Given the description of an element on the screen output the (x, y) to click on. 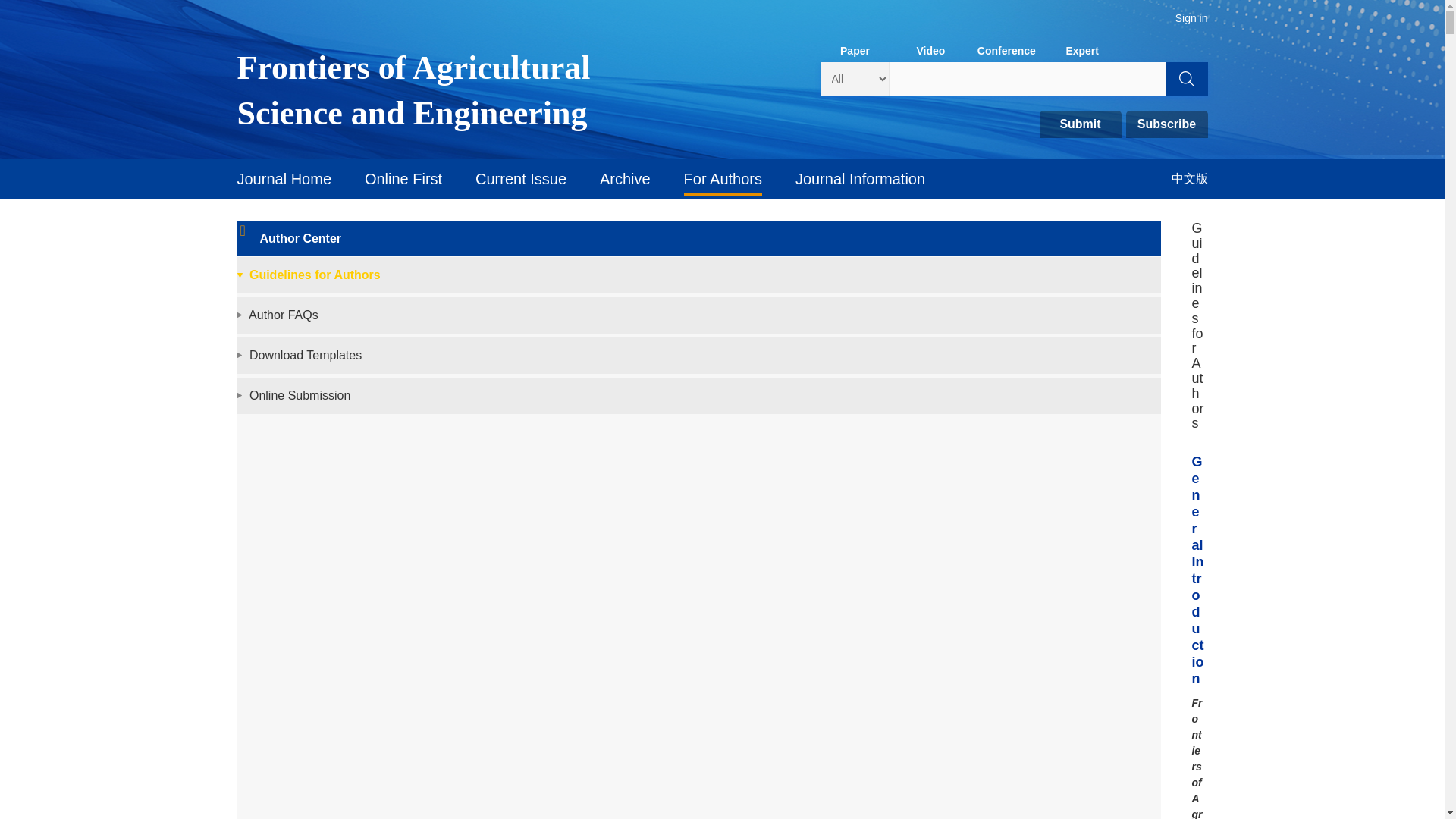
Archive (624, 178)
Download Templates (304, 354)
Author FAQs (283, 314)
Journal Information (859, 178)
Online First (403, 178)
Journal Home (283, 178)
Current Issue (521, 178)
Guidelines for Authors (314, 274)
For Authors (722, 178)
Online Submission (299, 395)
Frontiers of Agricultural Science and Engineering (457, 90)
Sign in (1191, 18)
